Given the description of an element on the screen output the (x, y) to click on. 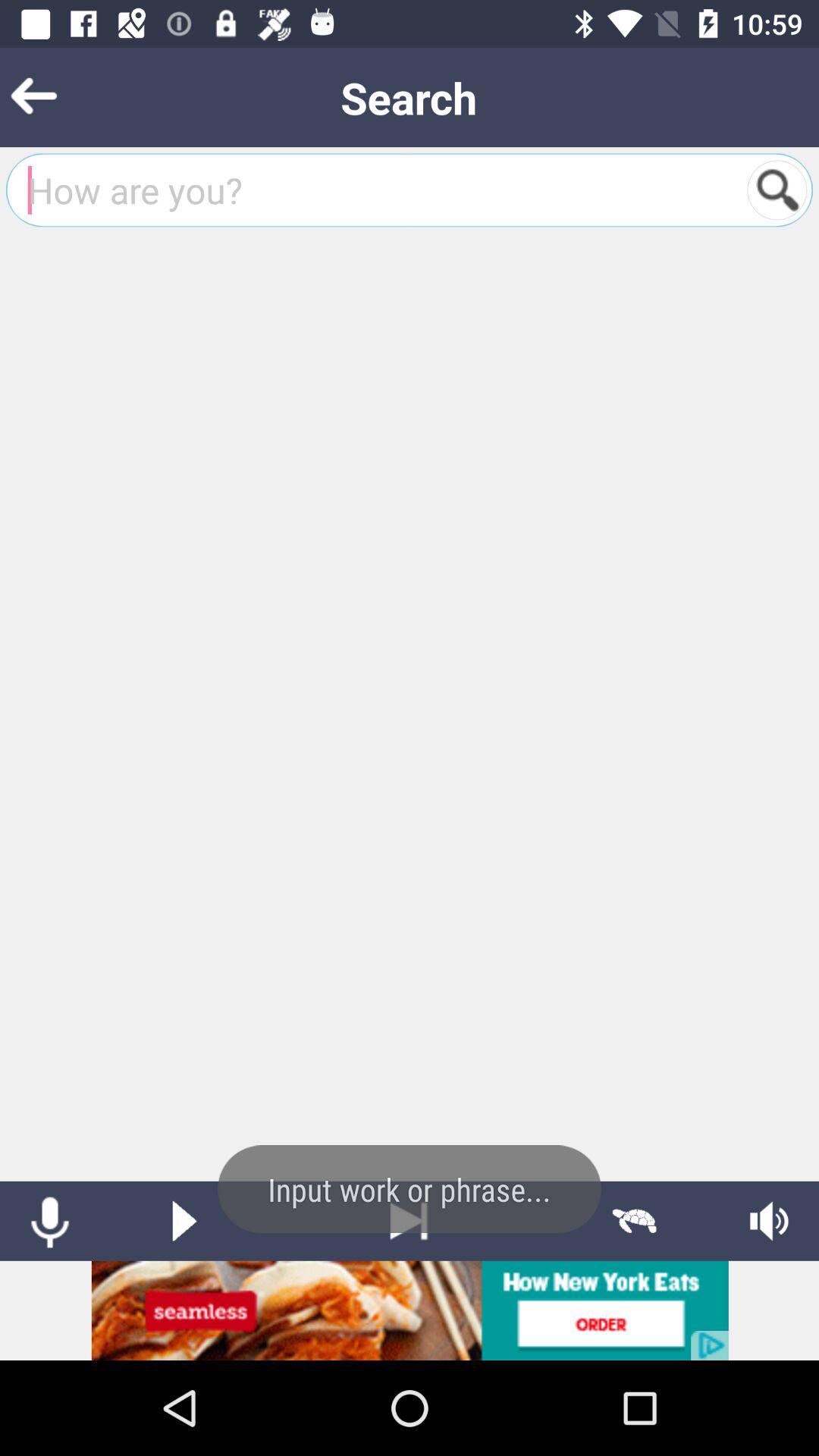
add banner (409, 1310)
